Given the description of an element on the screen output the (x, y) to click on. 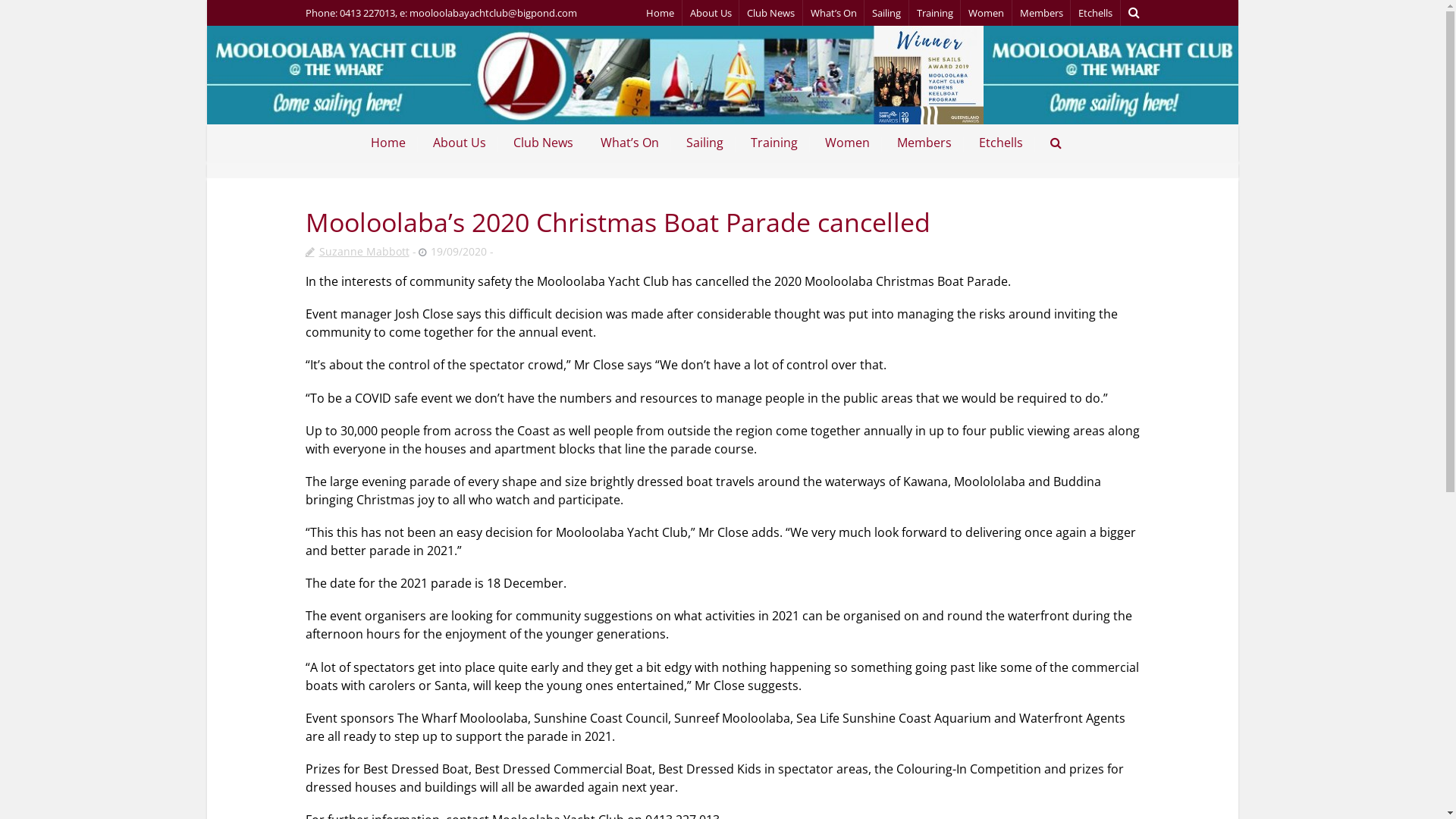
About Us Element type: text (465, 143)
Women Element type: text (853, 143)
Home Element type: text (660, 12)
Etchells Element type: text (1007, 143)
Sailing Element type: text (886, 12)
Etchells Element type: text (1095, 12)
Training Element type: text (779, 143)
Women Element type: text (986, 12)
Home Element type: text (393, 143)
Members Element type: text (1040, 12)
Training Element type: text (934, 12)
Suzanne Mabbott Element type: text (356, 251)
Club News Element type: text (770, 12)
About Us Element type: text (710, 12)
Club News Element type: text (549, 143)
Sailing Element type: text (710, 143)
Members Element type: text (930, 143)
